Given the description of an element on the screen output the (x, y) to click on. 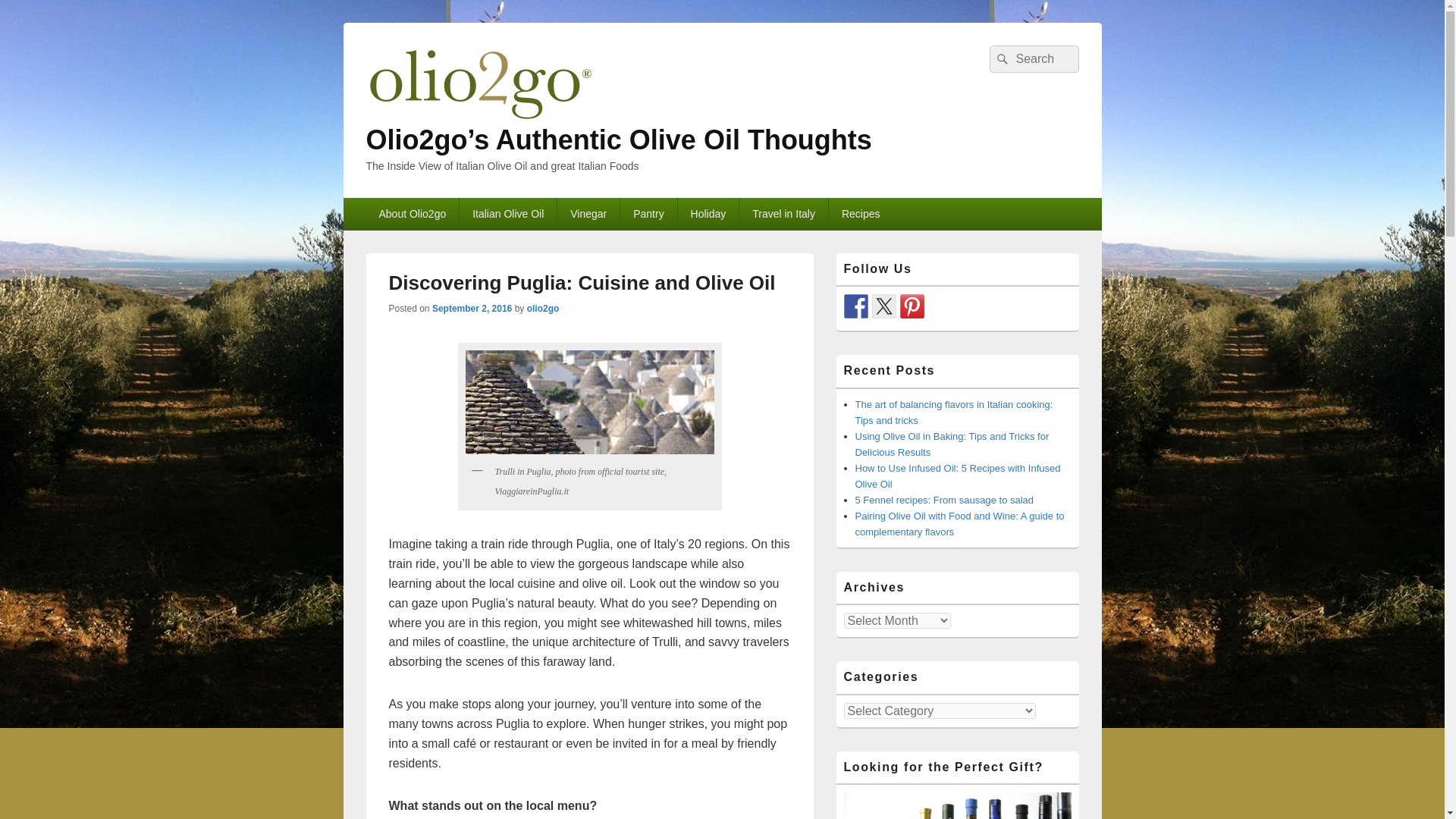
Follow us on Facebook (855, 306)
Search (999, 58)
olio2go (543, 308)
Search for: (1033, 58)
Follow us on Twitter (884, 306)
Pantry (648, 214)
Italian Olive Oil (508, 214)
About Olio2go (411, 214)
Holiday (708, 214)
Vinegar (588, 214)
Recipes (860, 214)
12:42 pm (472, 308)
View all posts by olio2go (543, 308)
September 2, 2016 (472, 308)
Travel in Italy (783, 214)
